Given the description of an element on the screen output the (x, y) to click on. 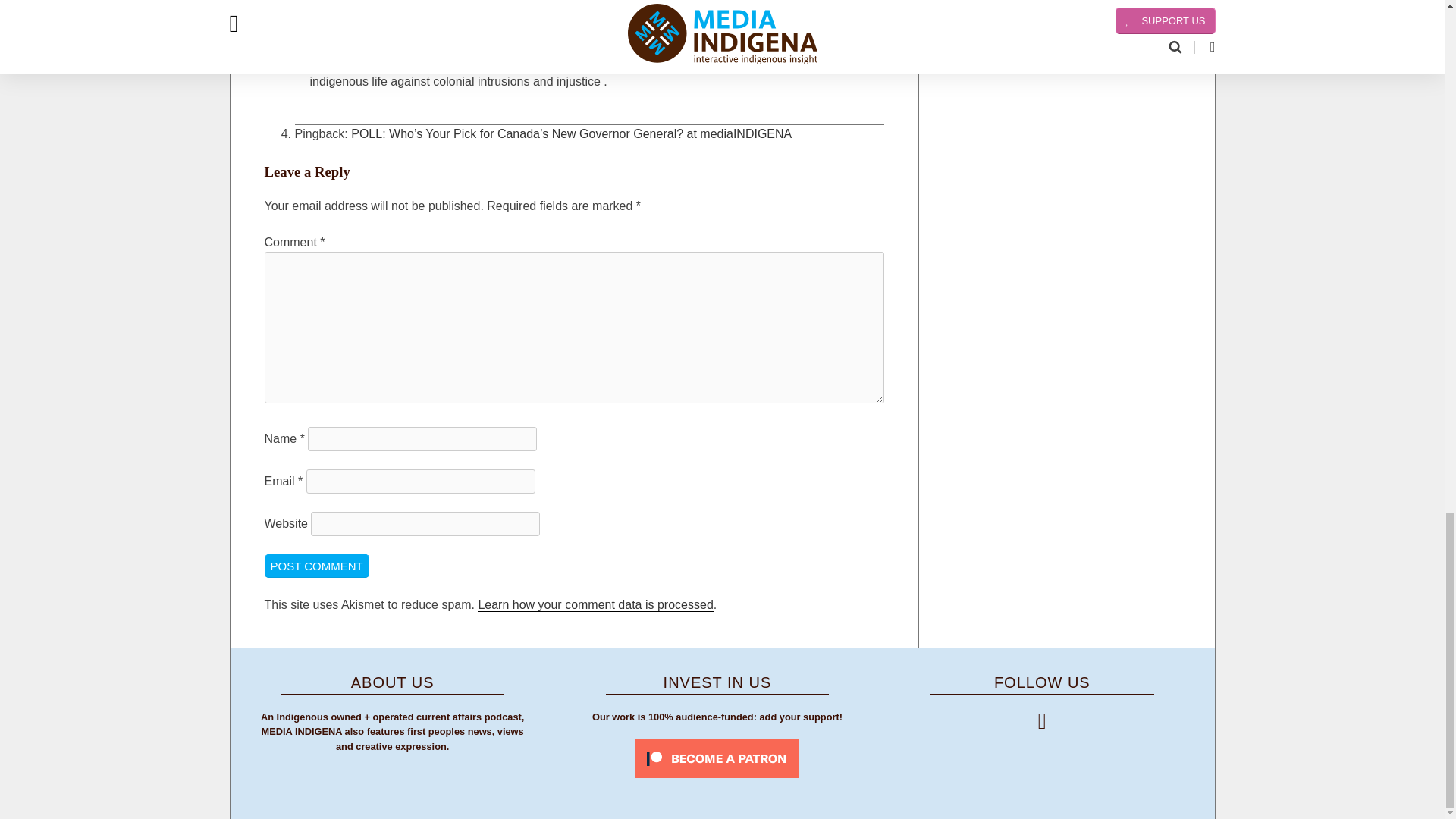
Post Comment (315, 566)
Learn how your comment data is processed (595, 604)
Post Comment (315, 566)
